Given the description of an element on the screen output the (x, y) to click on. 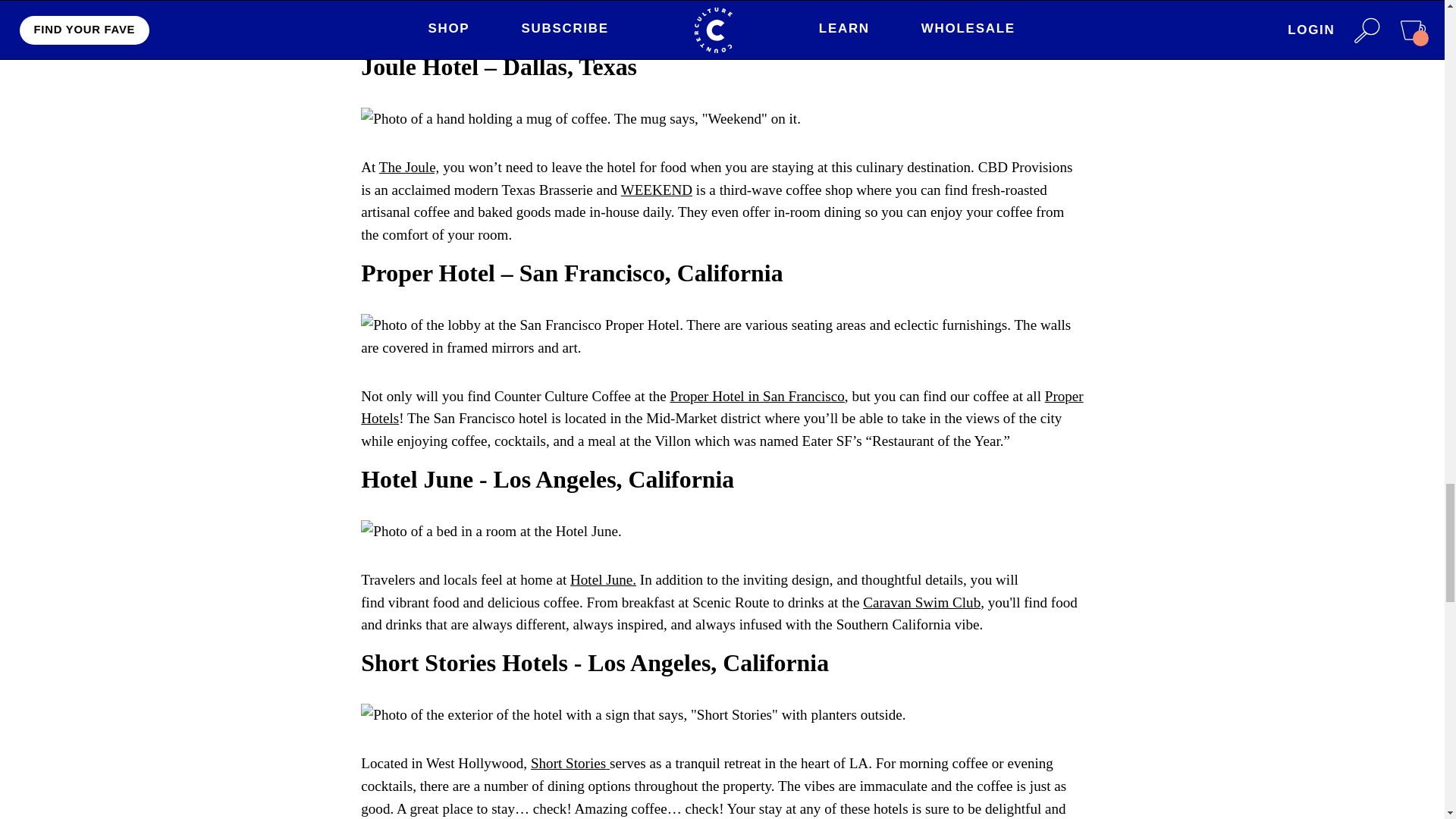
Hotel June Caravan Swim Club (921, 602)
Hotel June website (603, 579)
Short Stories Hotel (570, 763)
Weekend Coffee (657, 189)
